Given the description of an element on the screen output the (x, y) to click on. 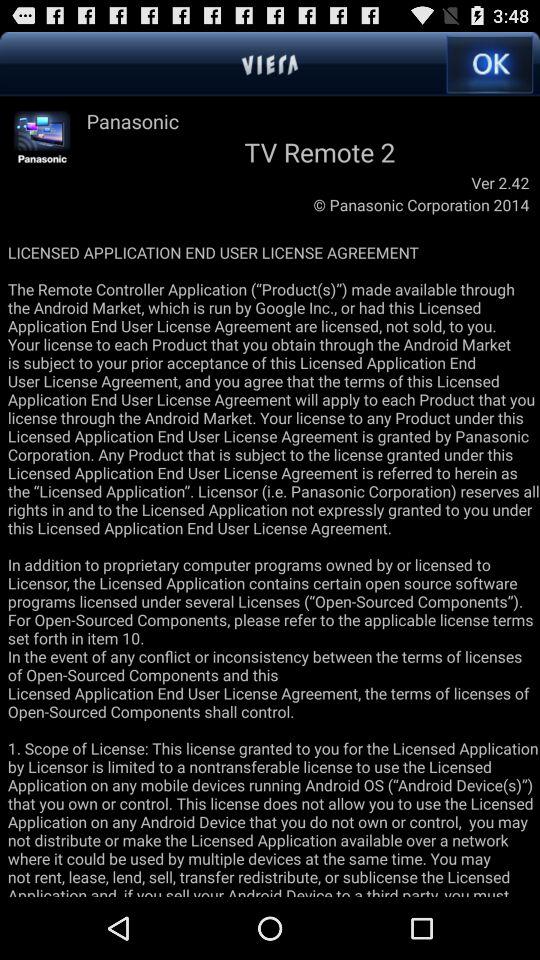
confirm (489, 64)
